Given the description of an element on the screen output the (x, y) to click on. 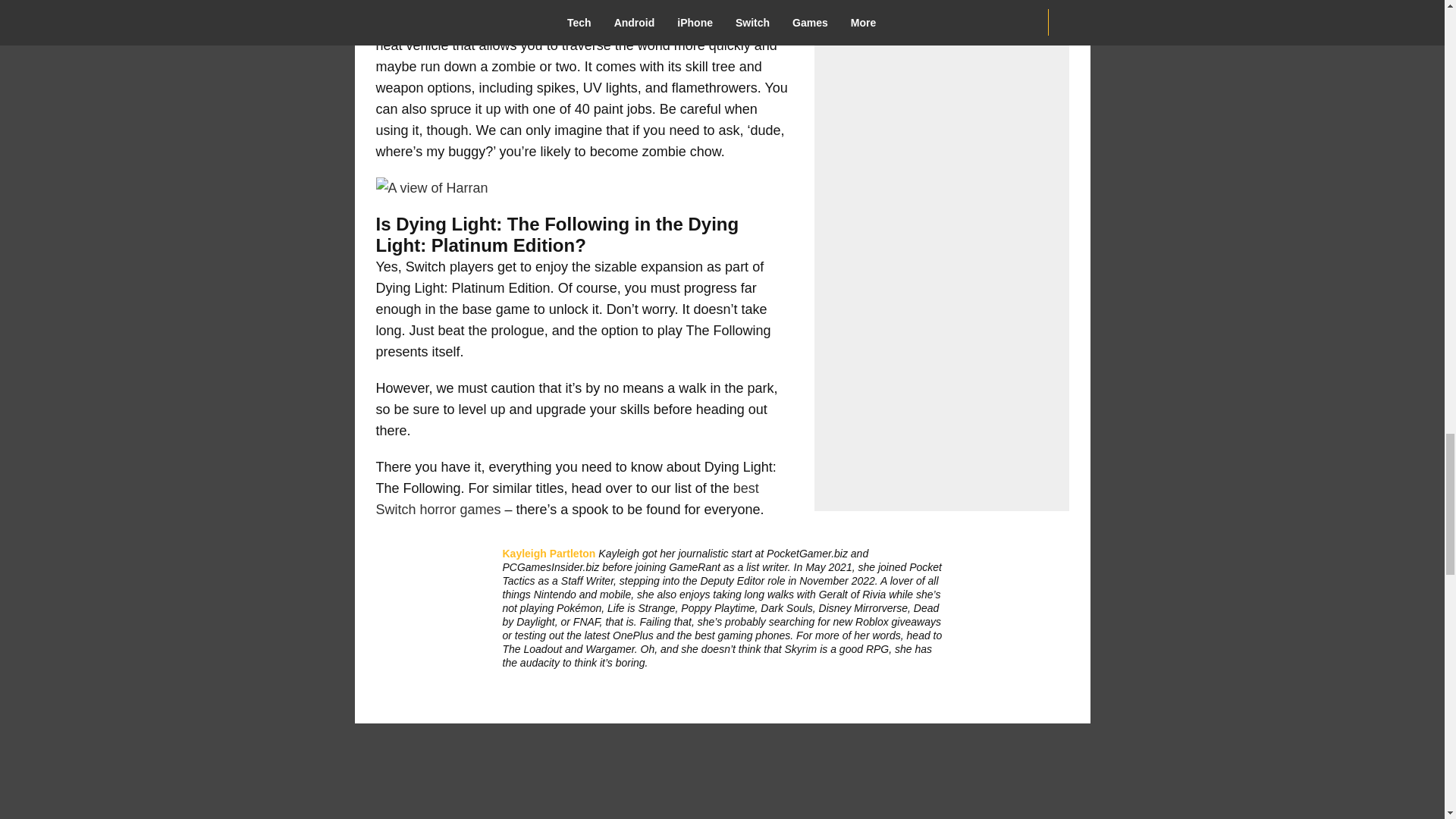
dying-light-the-following (431, 188)
Kayleigh Partleton (548, 553)
best Switch horror games (566, 498)
